Given the description of an element on the screen output the (x, y) to click on. 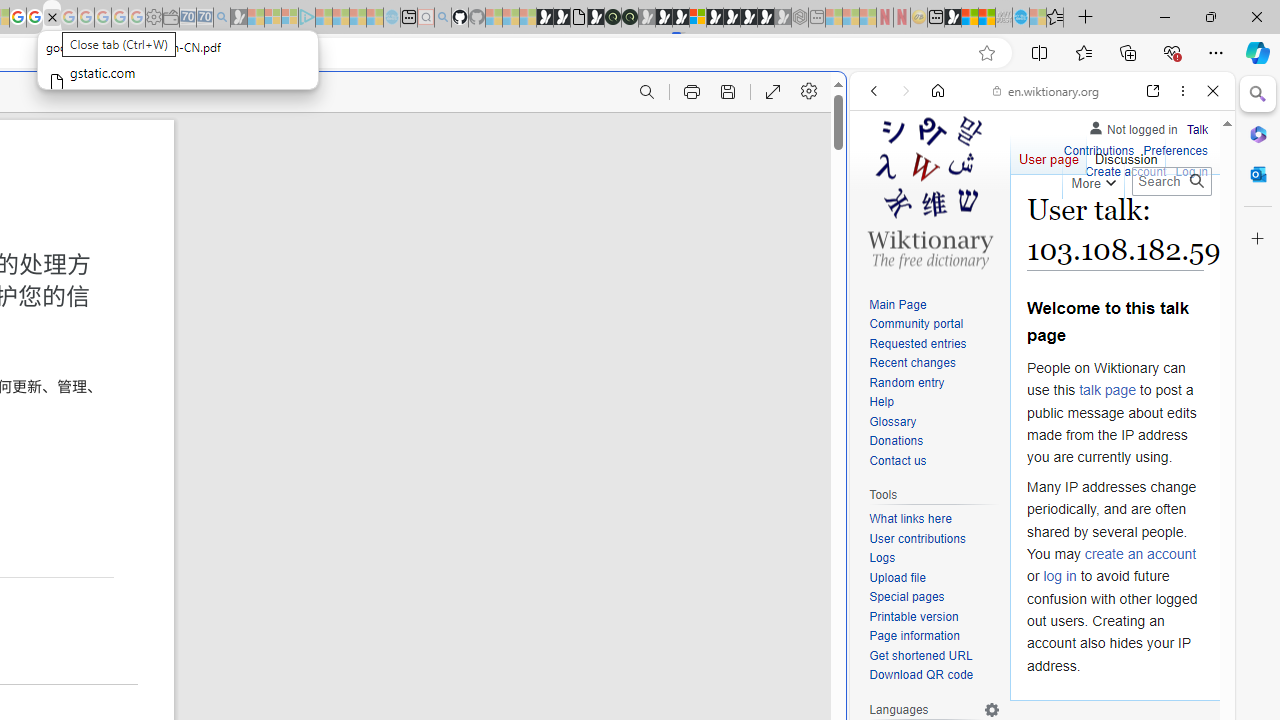
Page information (914, 636)
Sign in to your account (697, 17)
Tabs you've opened (276, 265)
Donations (896, 441)
Bing Real Estate - Home sales and rental listings - Sleeping (221, 17)
Global web icon (888, 669)
Search Filter, VIDEOS (1006, 228)
SEARCH TOOLS (1093, 228)
Open link in new tab (1153, 91)
Contributions (1098, 151)
Preferences (1175, 148)
